Given the description of an element on the screen output the (x, y) to click on. 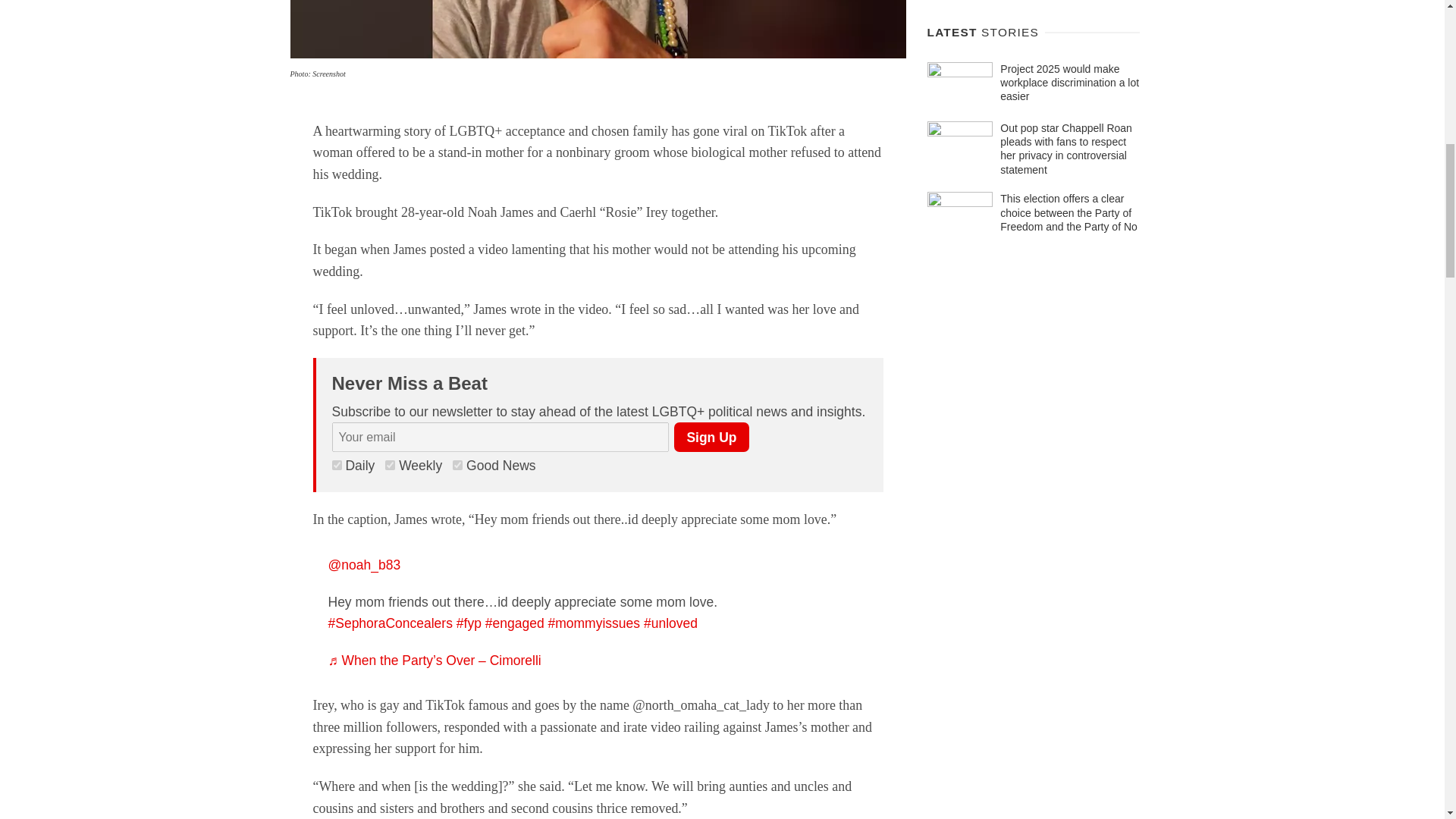
SephoraConcealers (389, 622)
Screenshot 2022-12-08 at 10.39.23 PM (597, 29)
1920885 (336, 465)
mommyissues (593, 622)
1920883 (457, 465)
engaged (514, 622)
unloved (670, 622)
Sign Up (711, 437)
fyp (469, 622)
1920884 (389, 465)
